Given the description of an element on the screen output the (x, y) to click on. 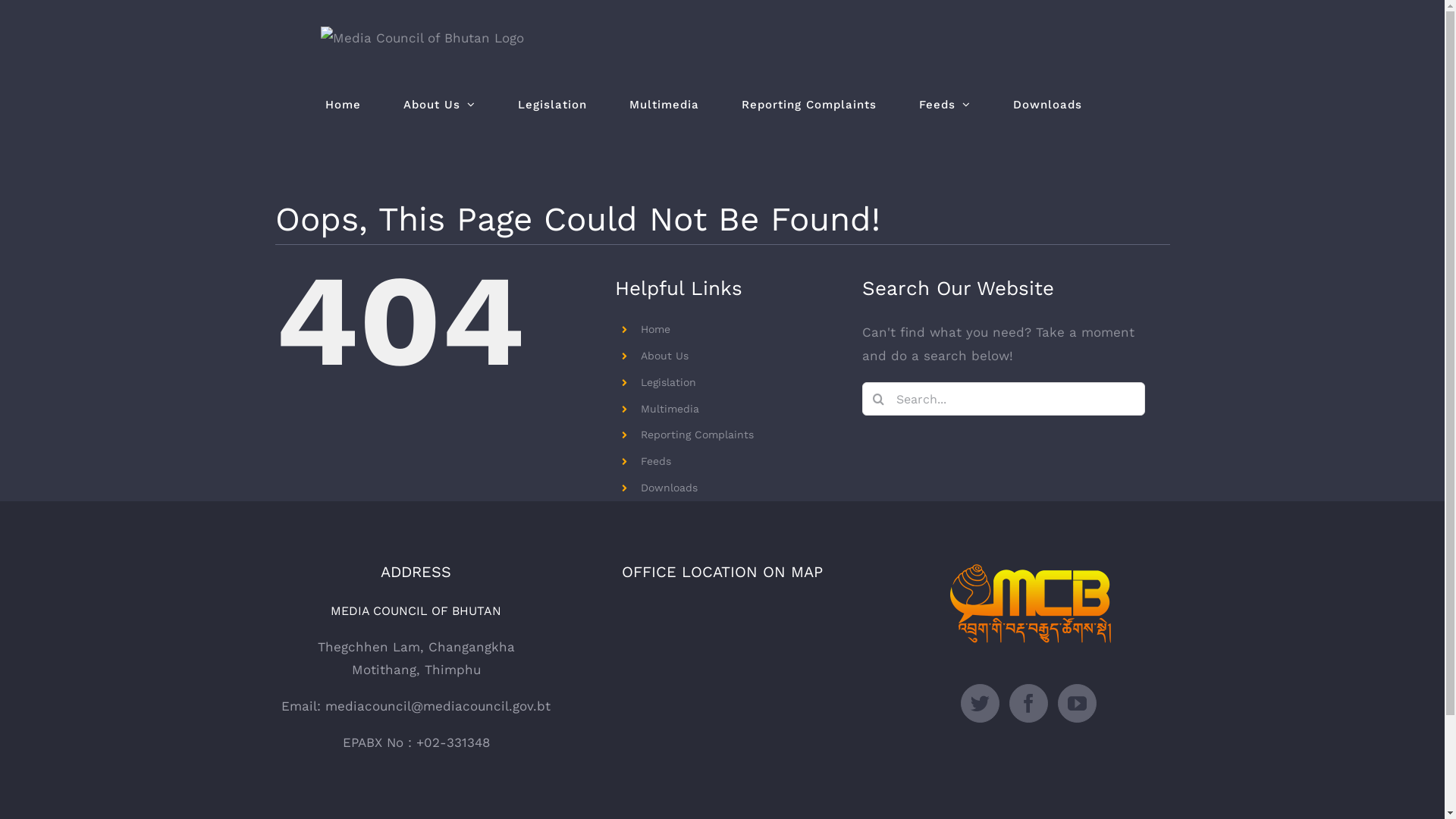
mediacouncil@mediacouncil.gov.bt Element type: text (437, 705)
Legislation Element type: text (551, 104)
Legislation Element type: text (668, 382)
Multimedia Element type: text (669, 408)
Feeds Element type: text (655, 461)
About Us Element type: text (664, 355)
About Us Element type: text (439, 104)
+02-331348 Element type: text (452, 741)
Home Element type: text (342, 104)
Reporting Complaints Element type: text (696, 434)
Feeds Element type: text (944, 104)
Multimedia Element type: text (664, 104)
Home Element type: text (655, 329)
Downloads Element type: text (668, 487)
Reporting Complaints Element type: text (808, 104)
Downloads Element type: text (1047, 104)
